Given the description of an element on the screen output the (x, y) to click on. 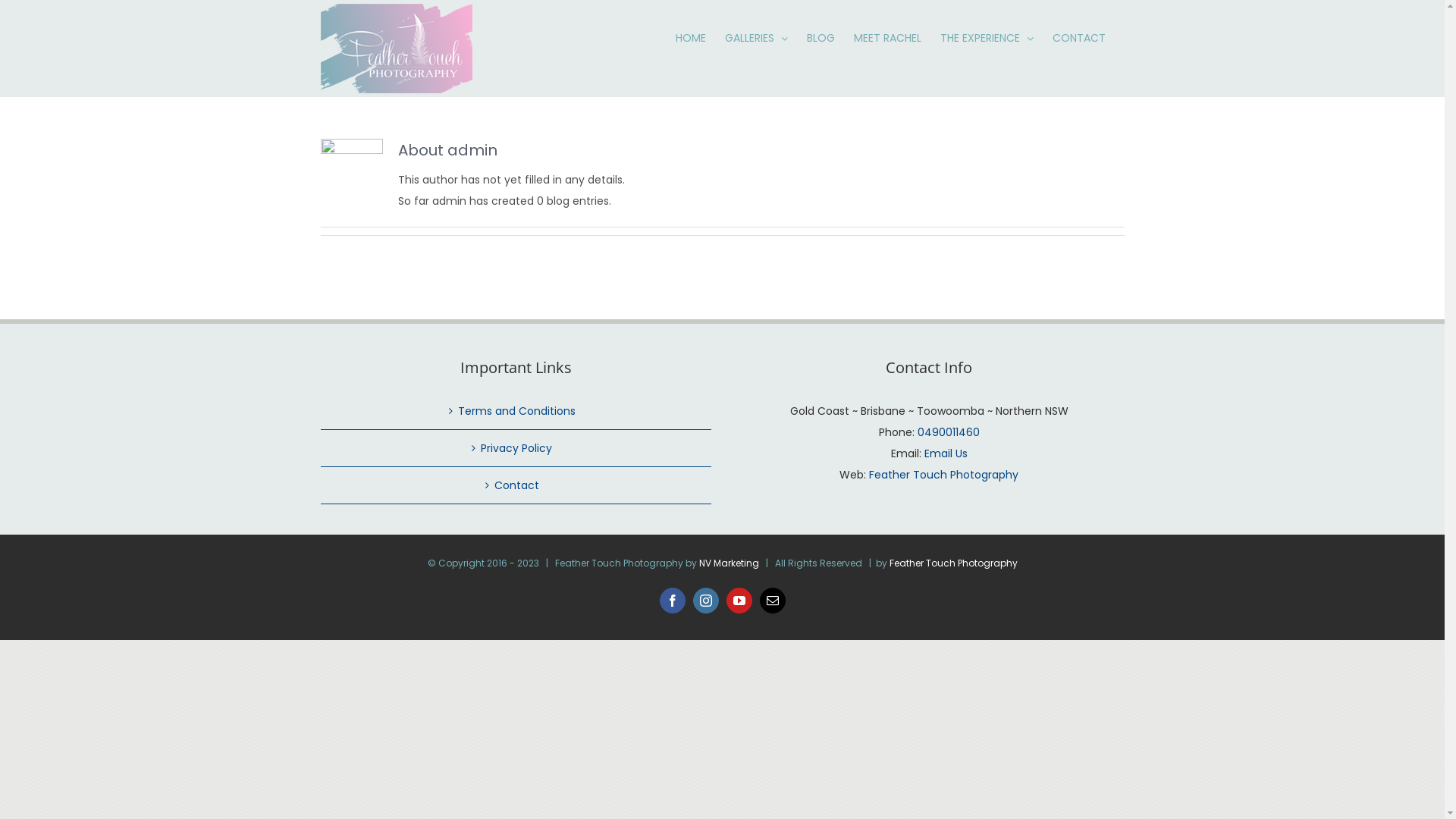
Facebook Element type: text (672, 600)
NV Marketing Element type: text (729, 562)
Feather Touch Photography Element type: text (943, 474)
Email Us Element type: text (944, 453)
Terms and Conditions Element type: text (515, 410)
Feather Touch Photography Element type: text (952, 562)
Instagram Element type: text (705, 600)
Contact Element type: text (515, 484)
YouTube Element type: text (739, 600)
BLOG Element type: text (820, 36)
HOME Element type: text (689, 36)
THE EXPERIENCE Element type: text (986, 36)
CONTACT Element type: text (1078, 36)
GALLERIES Element type: text (755, 36)
Email Element type: text (772, 600)
MEET RACHEL Element type: text (887, 36)
0490011460 Element type: text (948, 431)
Privacy Policy Element type: text (515, 447)
